Given the description of an element on the screen output the (x, y) to click on. 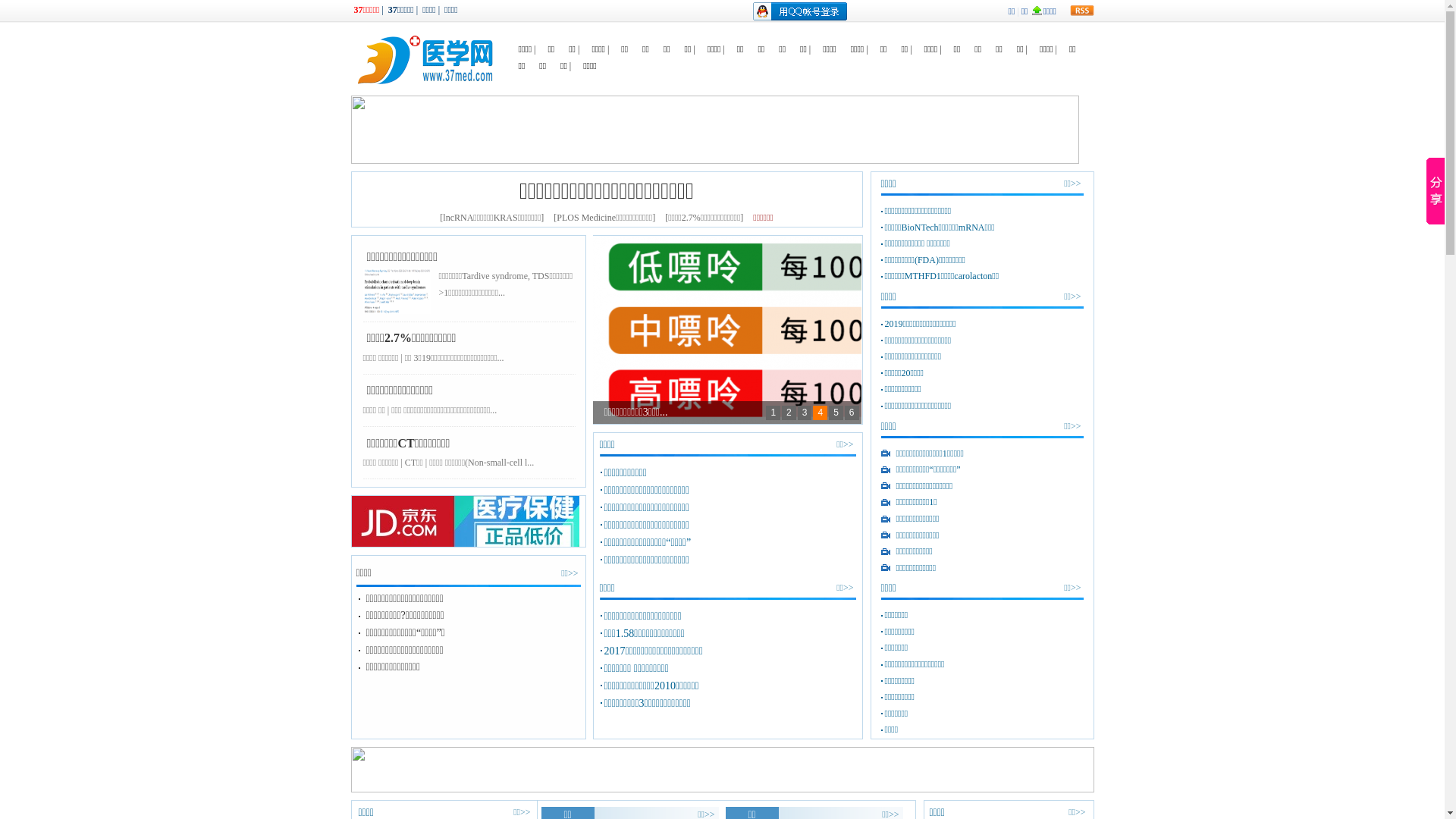
rss Element type: text (1081, 10)
